Given the description of an element on the screen output the (x, y) to click on. 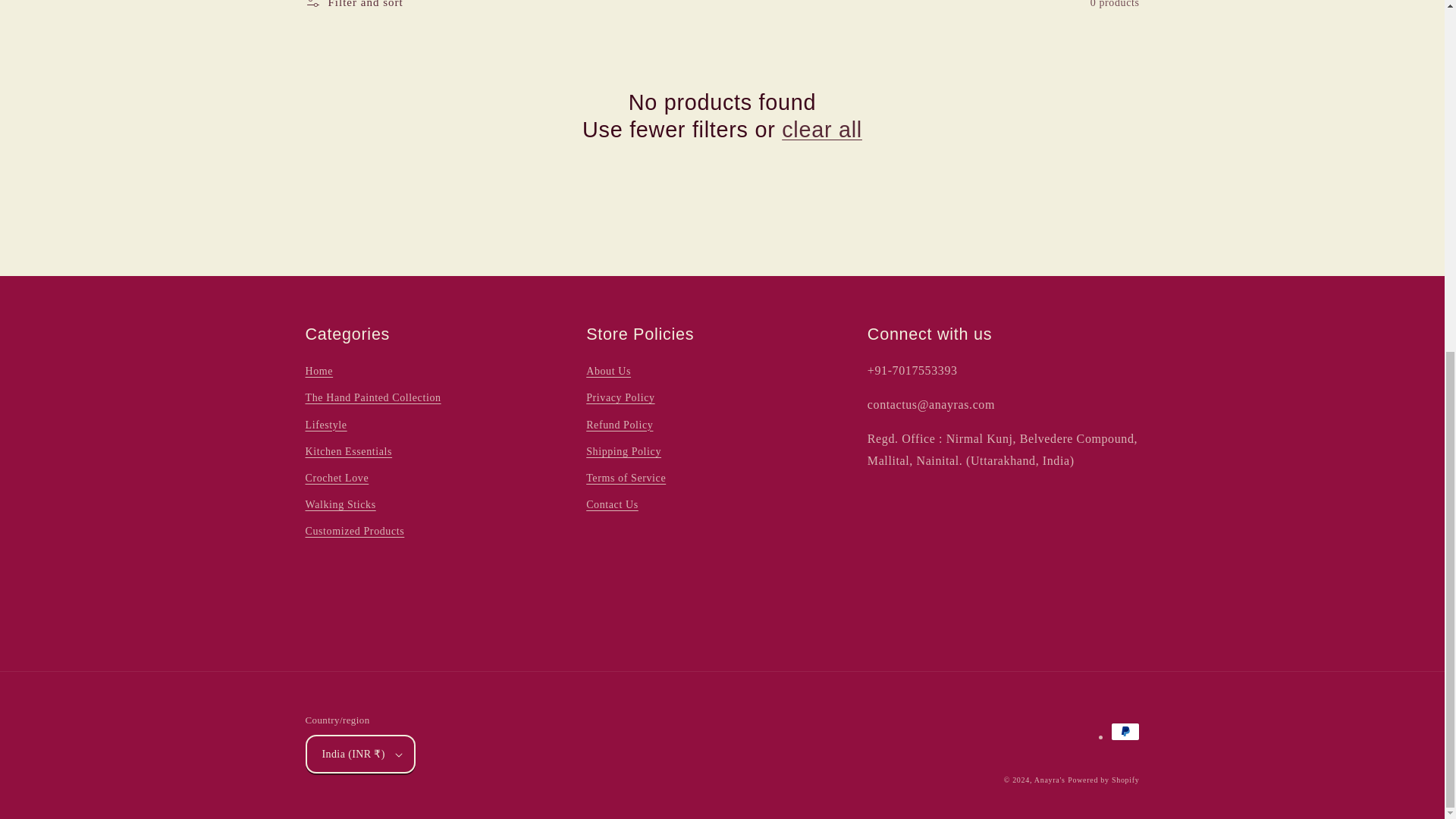
PayPal (1123, 731)
